Given the description of an element on the screen output the (x, y) to click on. 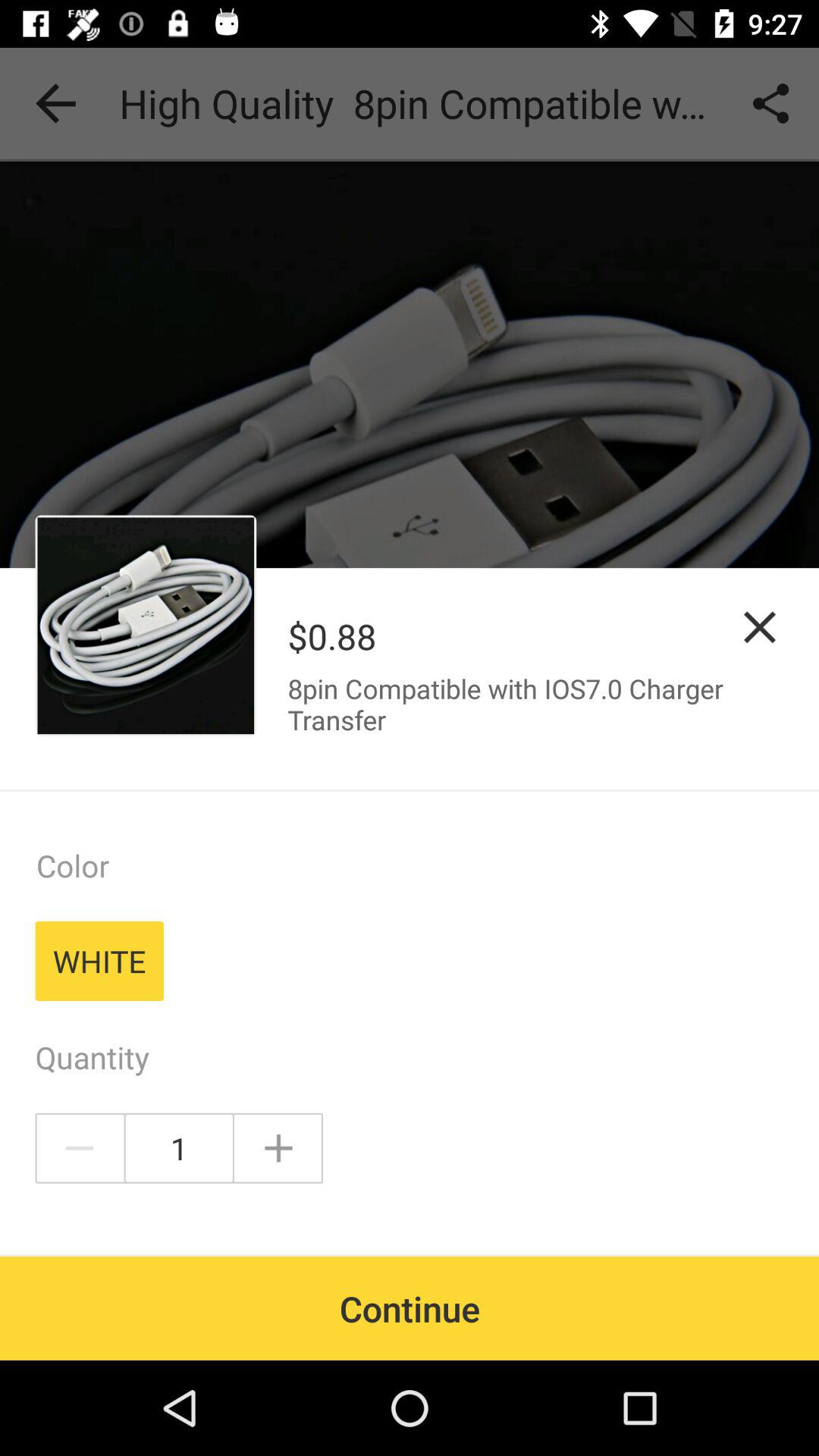
close (759, 627)
